Given the description of an element on the screen output the (x, y) to click on. 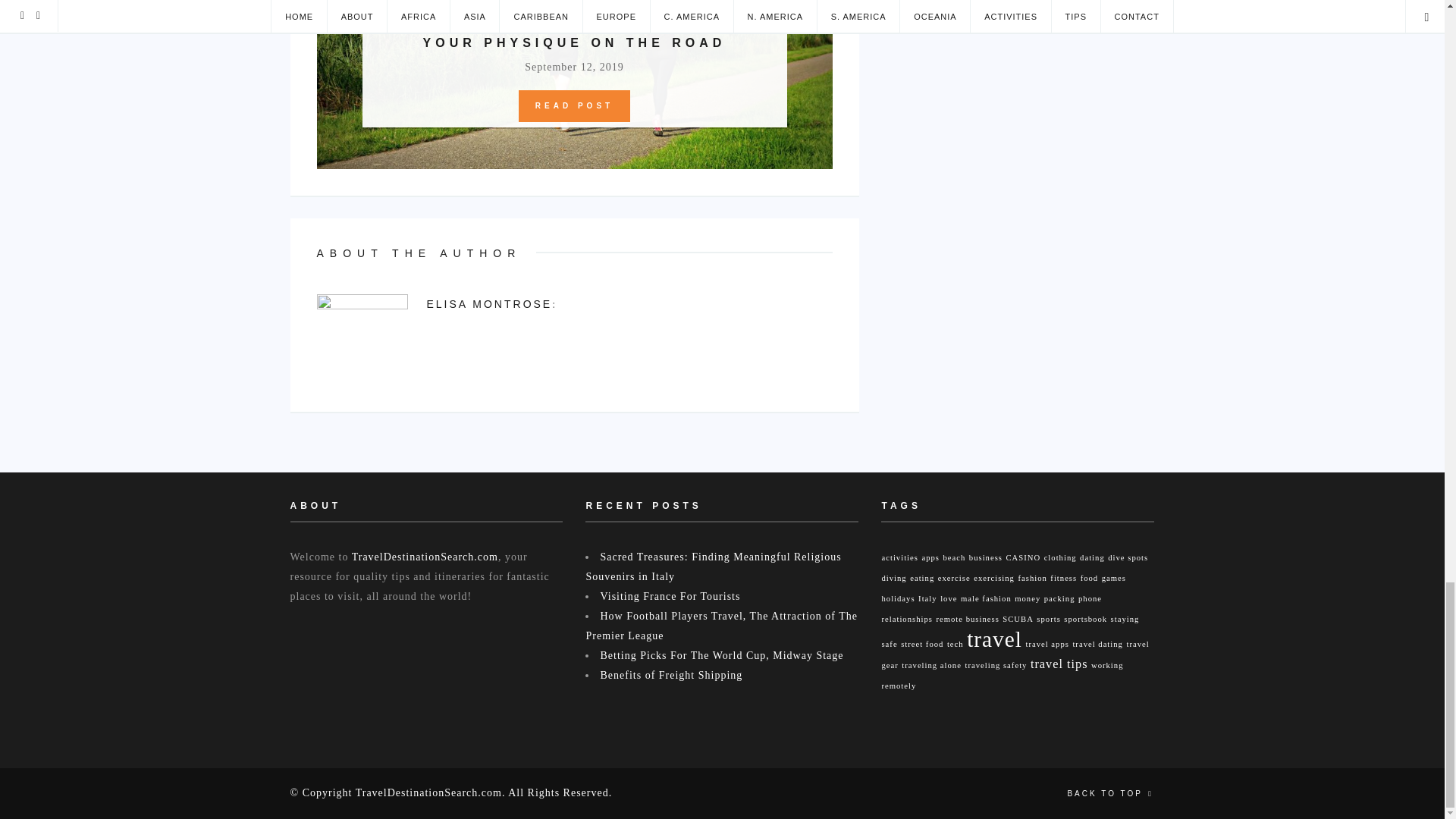
READ POST (574, 106)
